Given the description of an element on the screen output the (x, y) to click on. 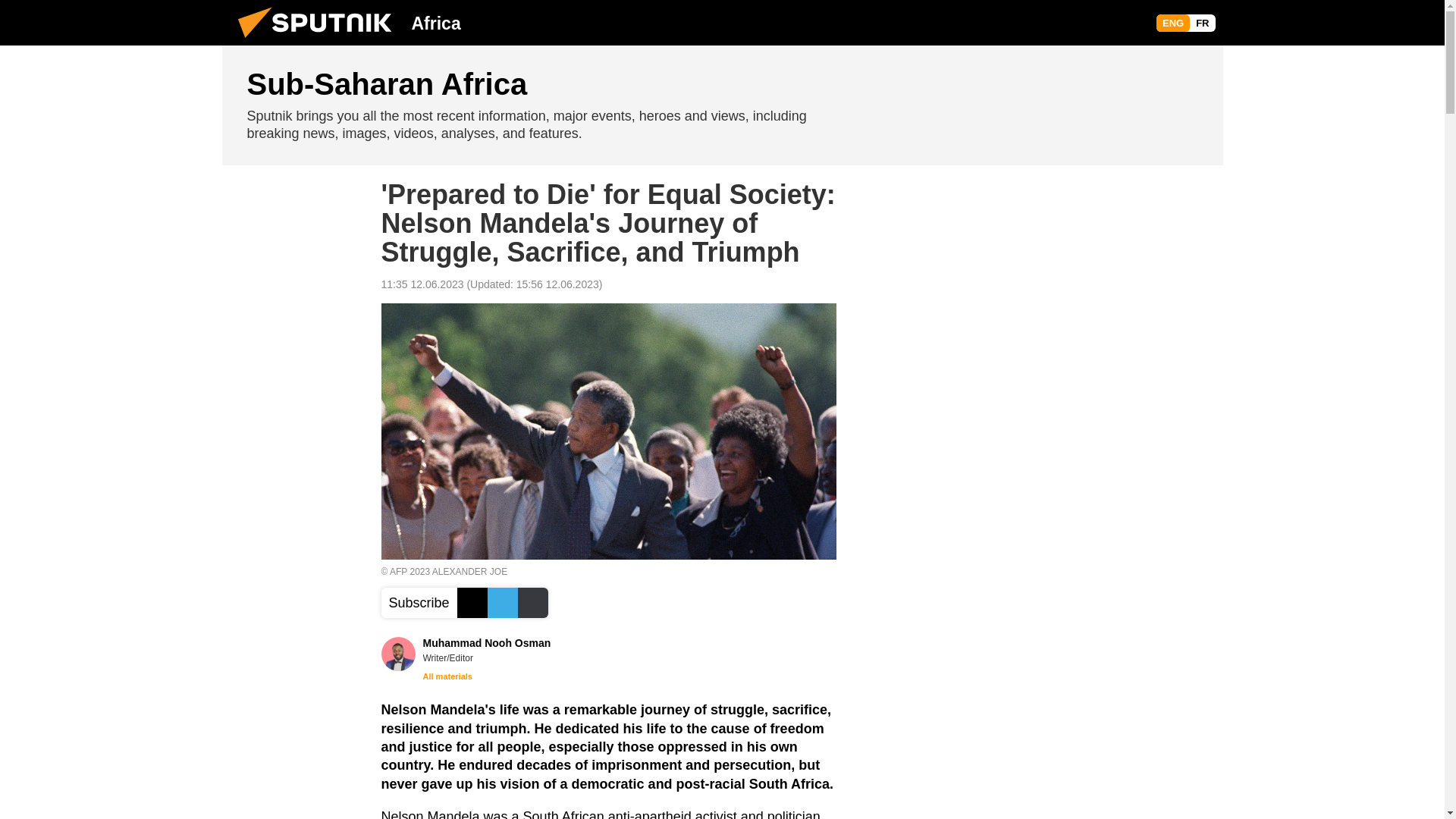
FR (1201, 22)
Sub-Saharan Africa (722, 105)
ENG (1172, 22)
Sputnik Africa (319, 41)
